Given the description of an element on the screen output the (x, y) to click on. 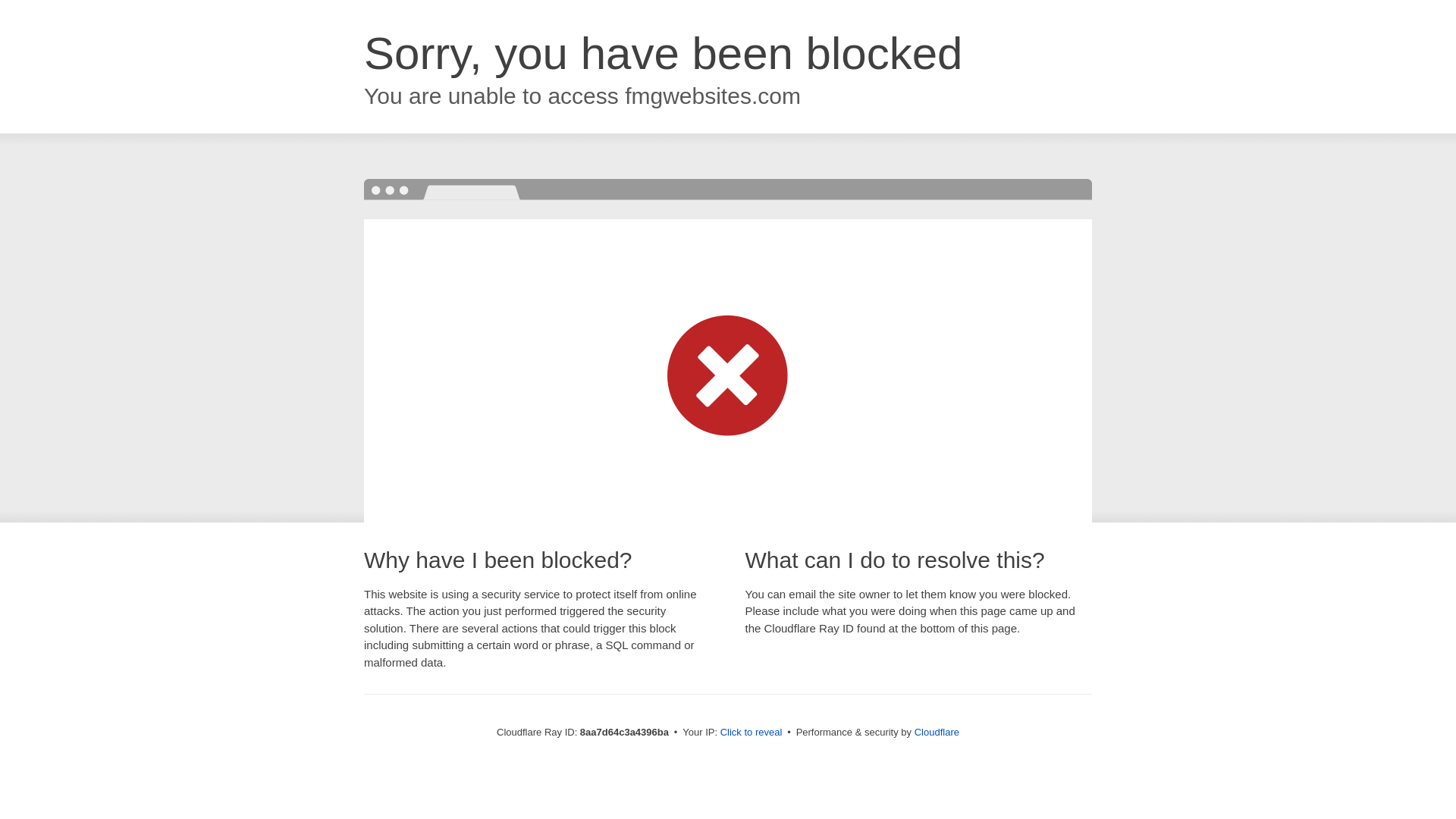
Cloudflare (936, 731)
Click to reveal (751, 732)
